Given the description of an element on the screen output the (x, y) to click on. 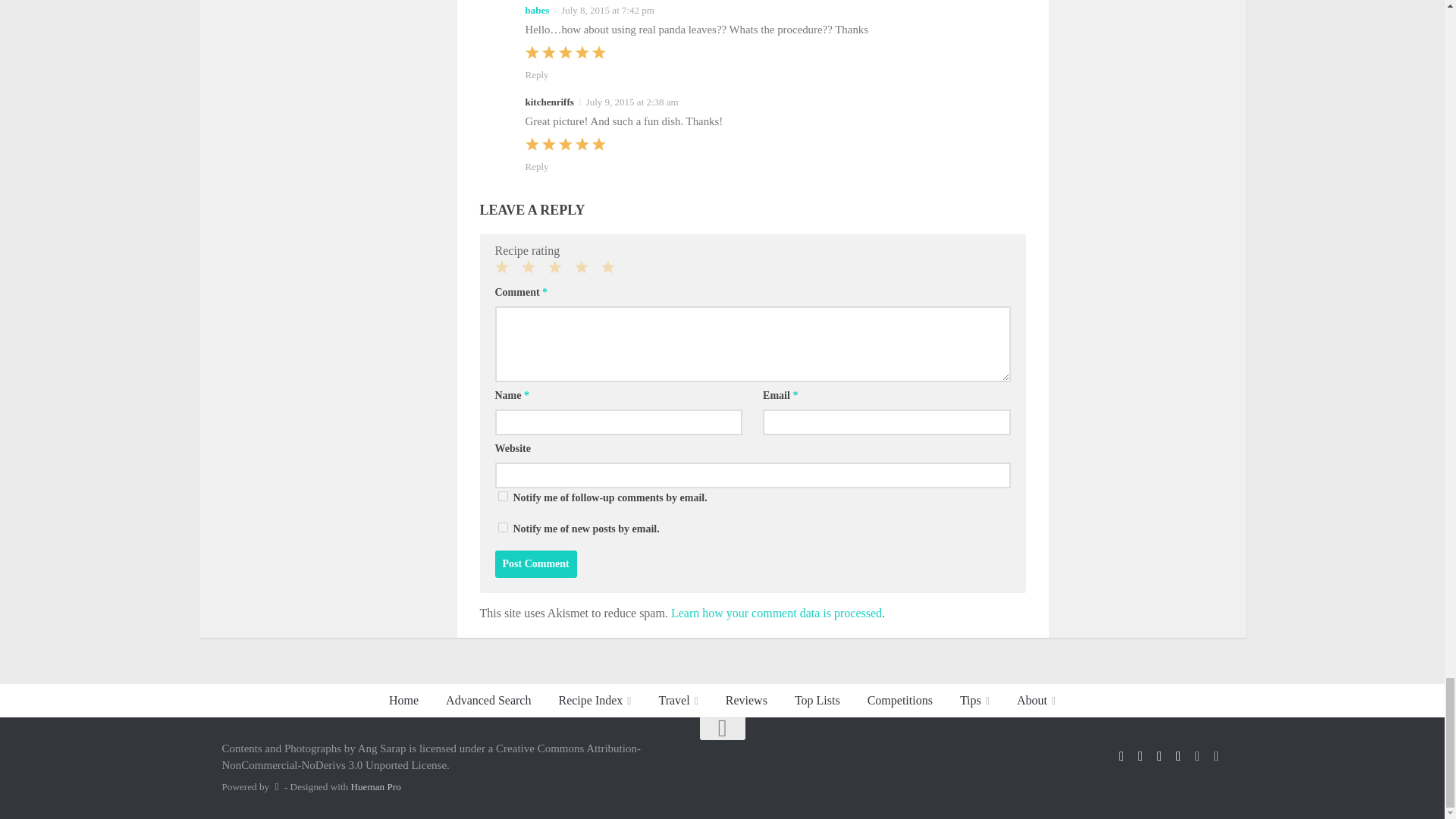
subscribe (501, 496)
subscribe (501, 527)
Post Comment (535, 564)
